Given the description of an element on the screen output the (x, y) to click on. 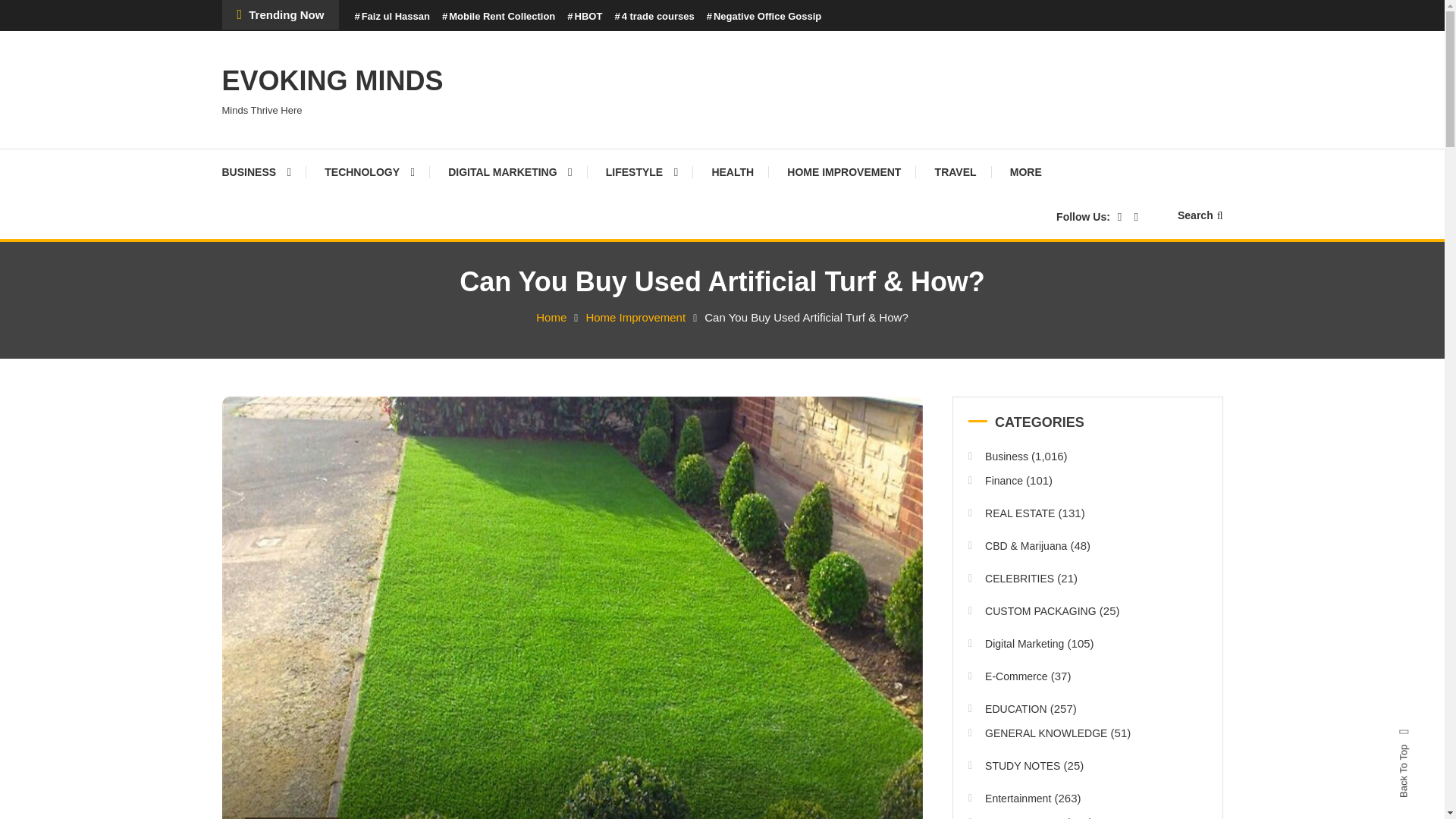
Search (1200, 215)
LIFESTYLE (642, 171)
MORE (1025, 171)
Mobile Rent Collection (498, 16)
HEALTH (731, 171)
DIGITAL MARKETING (509, 171)
HOME IMPROVEMENT (843, 171)
Faiz ul Hassan (391, 16)
EVOKING MINDS (331, 80)
BUSINESS (263, 171)
Negative Office Gossip (764, 16)
TRAVEL (955, 171)
Home Improvement (635, 317)
HBOT (584, 16)
4 trade courses (654, 16)
